Given the description of an element on the screen output the (x, y) to click on. 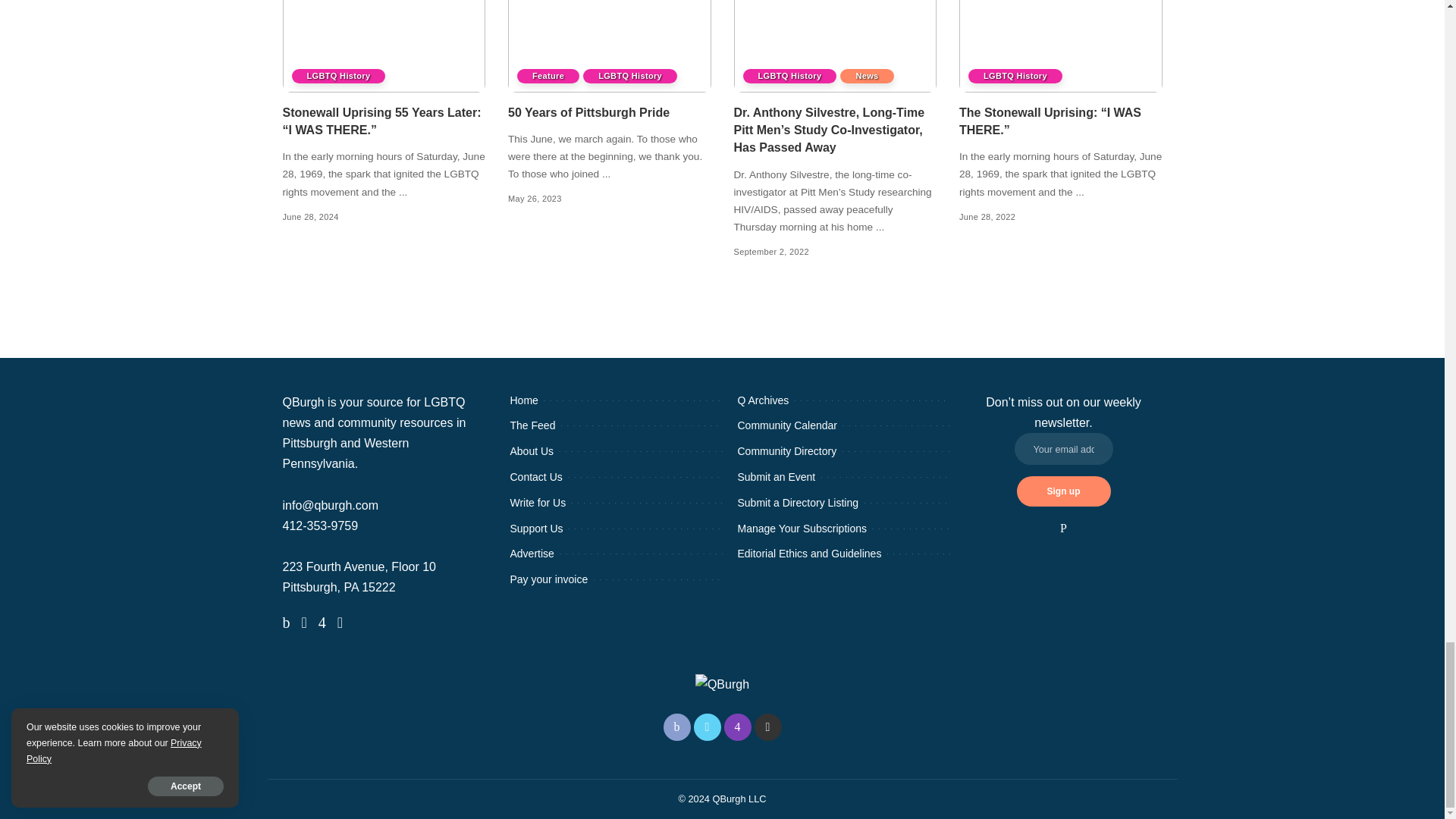
Sign up (1062, 490)
